Given the description of an element on the screen output the (x, y) to click on. 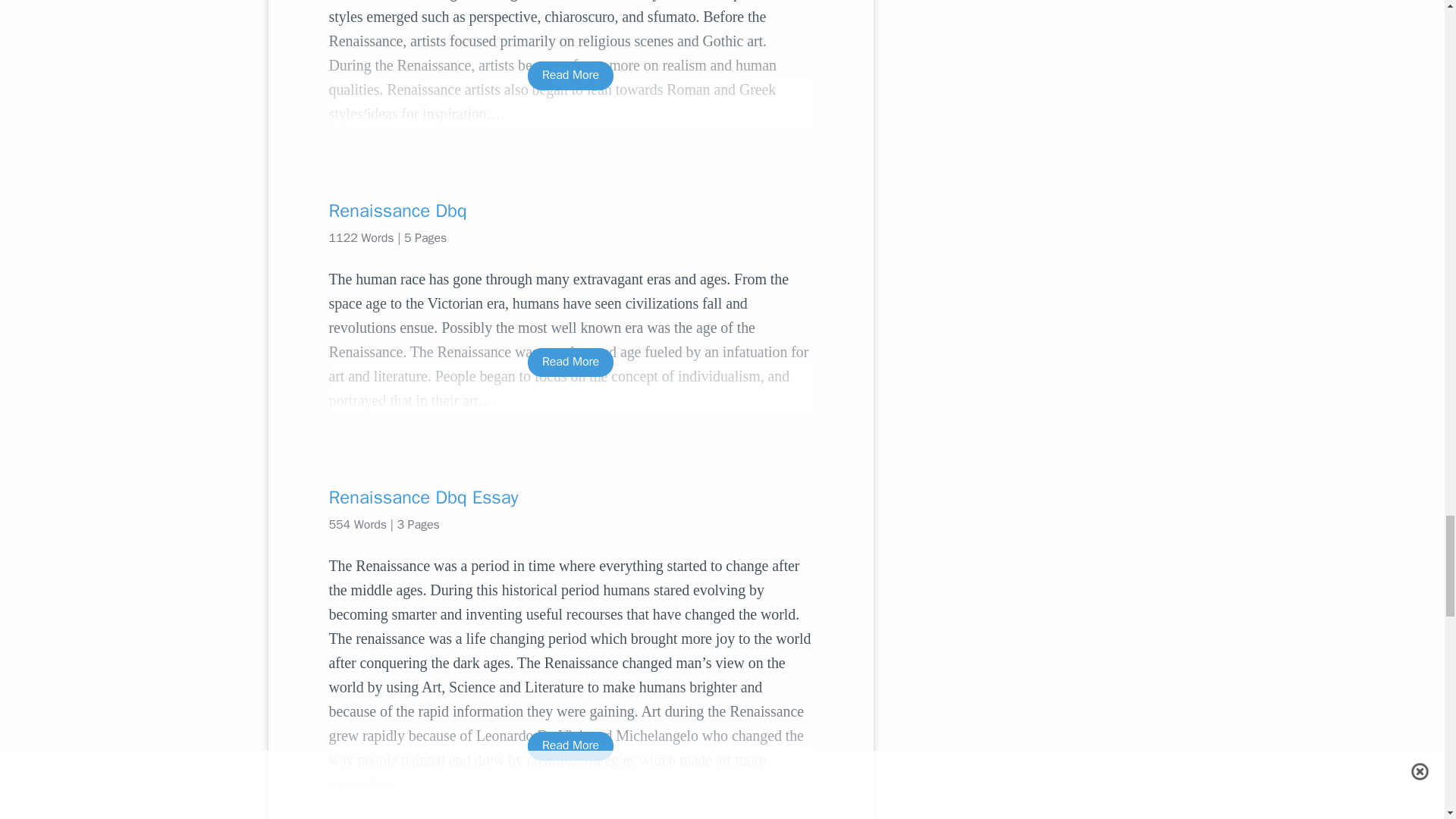
Read More (569, 75)
Renaissance Dbq (570, 210)
